Given the description of an element on the screen output the (x, y) to click on. 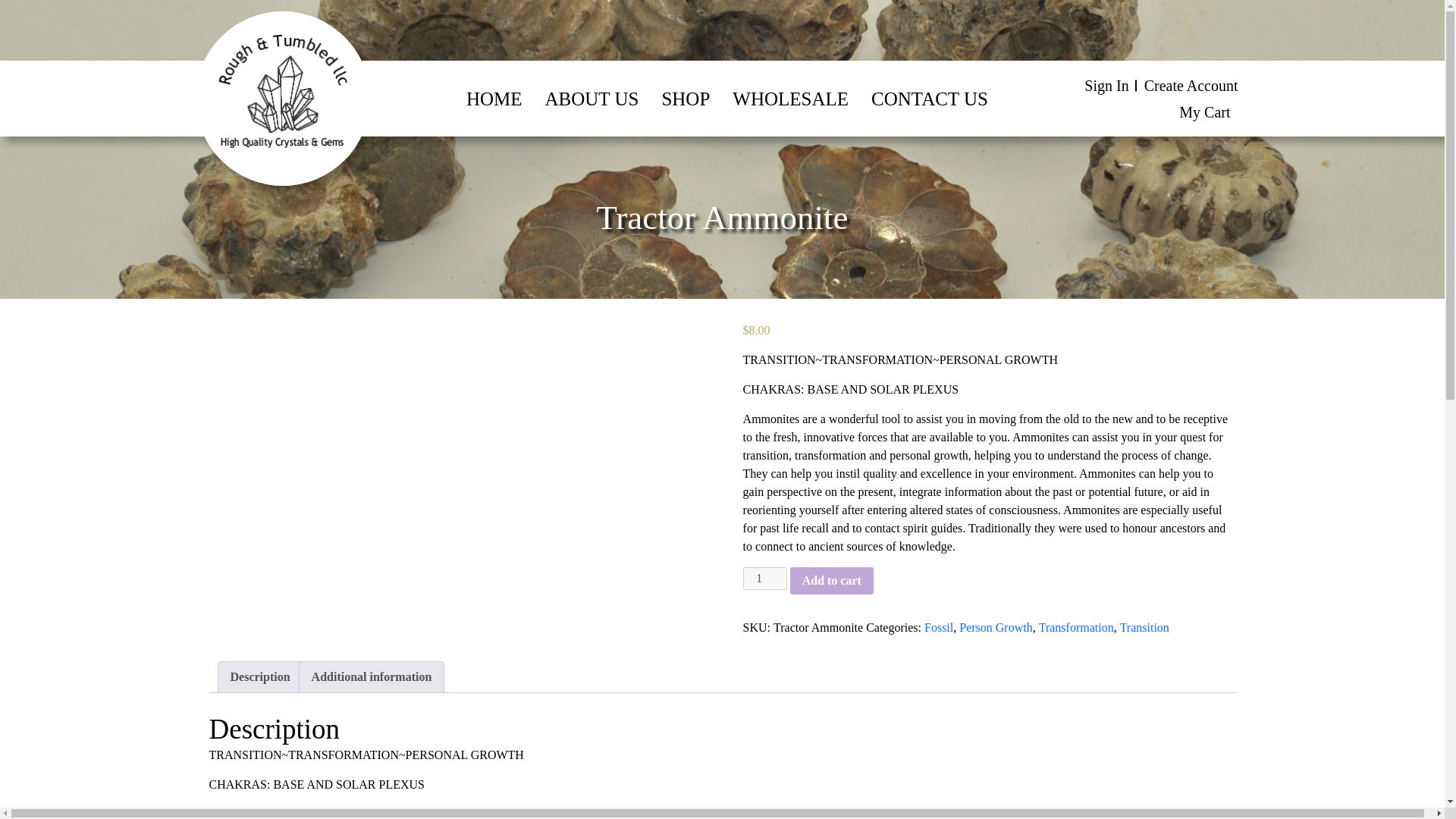
Description (259, 676)
HOME (493, 98)
Transformation (1076, 628)
Create Account (1191, 84)
Fossil (938, 628)
Person Growth (995, 628)
SHOP (685, 98)
Transition (1144, 628)
1 (764, 578)
CONTACT US (929, 98)
Additional information (371, 676)
Sign In (1106, 84)
Add to cart (831, 580)
ABOUT US (591, 98)
My Cart (1208, 111)
